Given the description of an element on the screen output the (x, y) to click on. 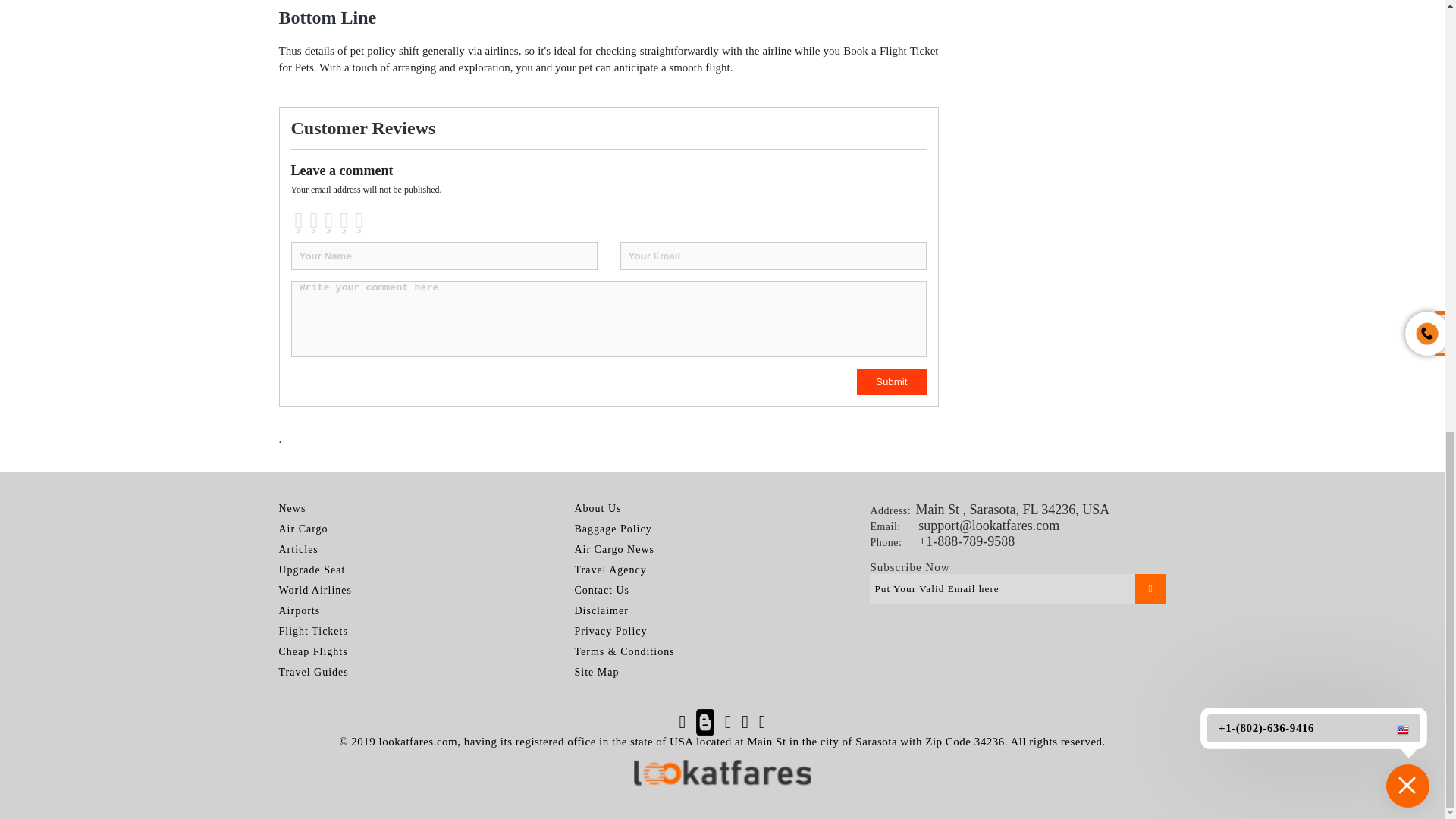
Travel Guides (314, 672)
Baggage Policy (611, 528)
World Airlines (315, 590)
Travel Agency (609, 569)
News (292, 508)
Contact Us (600, 590)
Disclaimer (600, 610)
Site Map (595, 672)
Airports (299, 610)
About Us (597, 508)
